Given the description of an element on the screen output the (x, y) to click on. 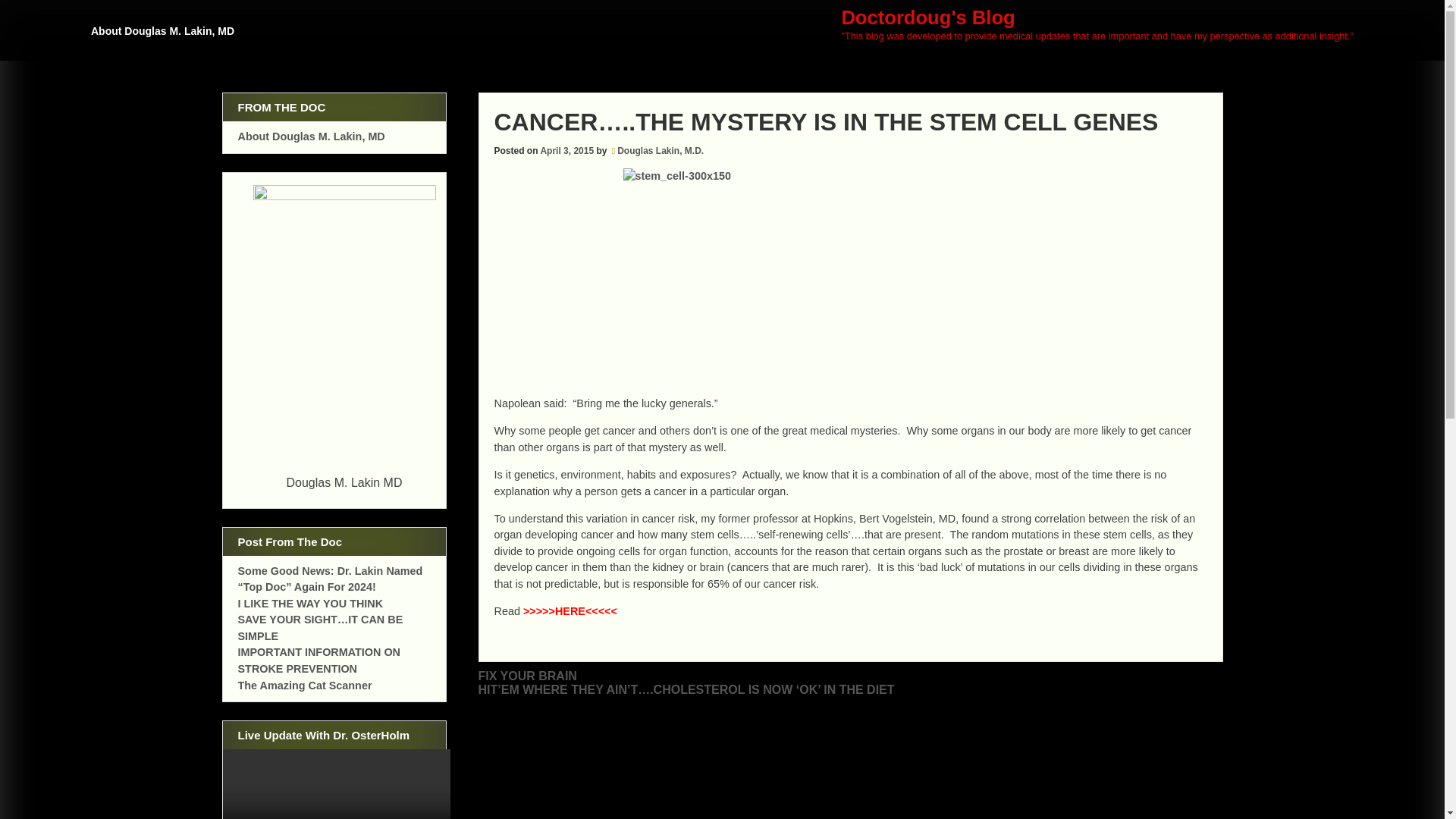
FIX YOUR BRAIN (526, 675)
The Amazing Cat Scanner (305, 685)
About Douglas M. Lakin, MD (165, 37)
April 3, 2015 (567, 150)
About Douglas M. Lakin, MD (311, 136)
CANCER RISK...VOGELSTEIN (569, 611)
Douglas Lakin, M.D. (660, 150)
I LIKE THE WAY YOU THINK (311, 603)
Doctordoug's Blog (927, 16)
IMPORTANT INFORMATION ON STROKE PREVENTION (319, 660)
